Given the description of an element on the screen output the (x, y) to click on. 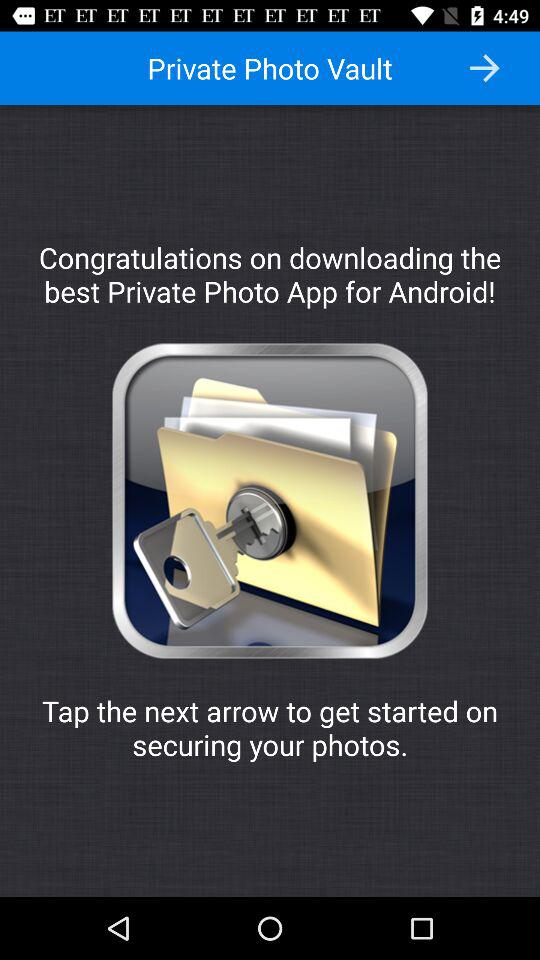
open the item at the top right corner (484, 68)
